Given the description of an element on the screen output the (x, y) to click on. 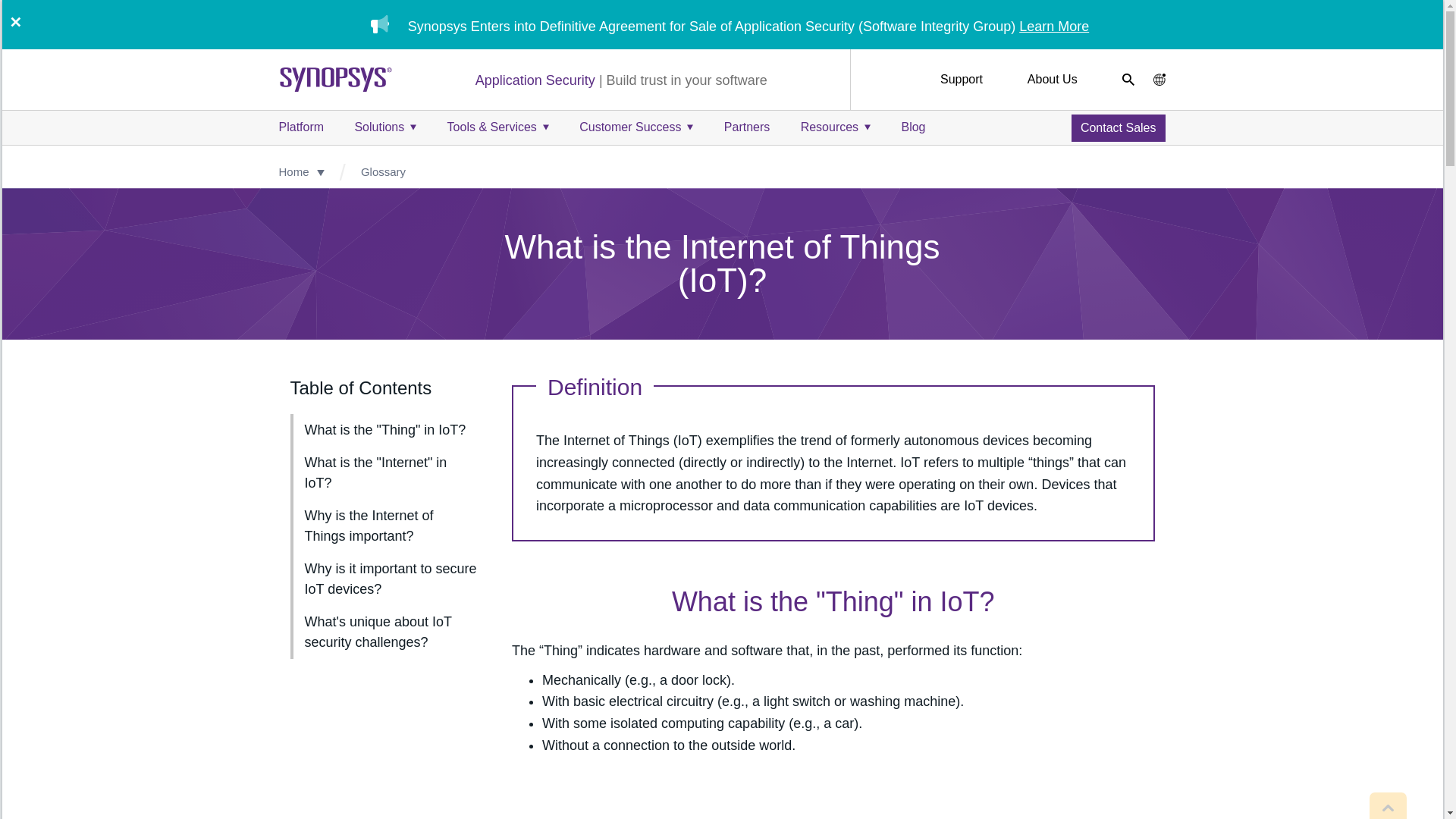
Blog (912, 126)
About Us (1052, 78)
Resources (835, 126)
Solutions (384, 126)
Customer Success (636, 126)
Support (961, 78)
Partners (746, 126)
Platform (301, 126)
Contact Sales (1118, 127)
Learn More (1054, 26)
